Given the description of an element on the screen output the (x, y) to click on. 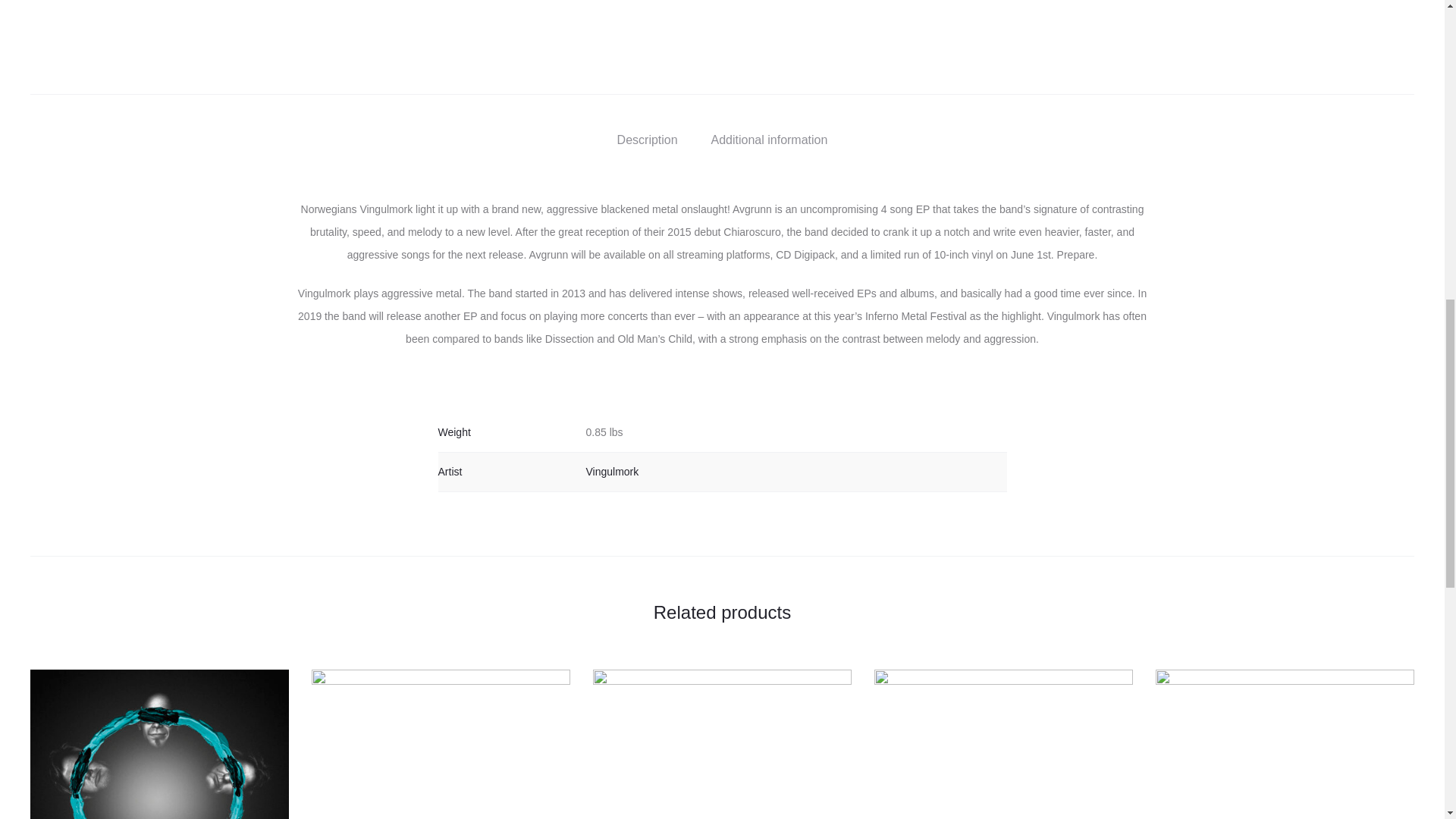
Vingulmork (612, 471)
Description (647, 139)
Additional information (769, 139)
